Given the description of an element on the screen output the (x, y) to click on. 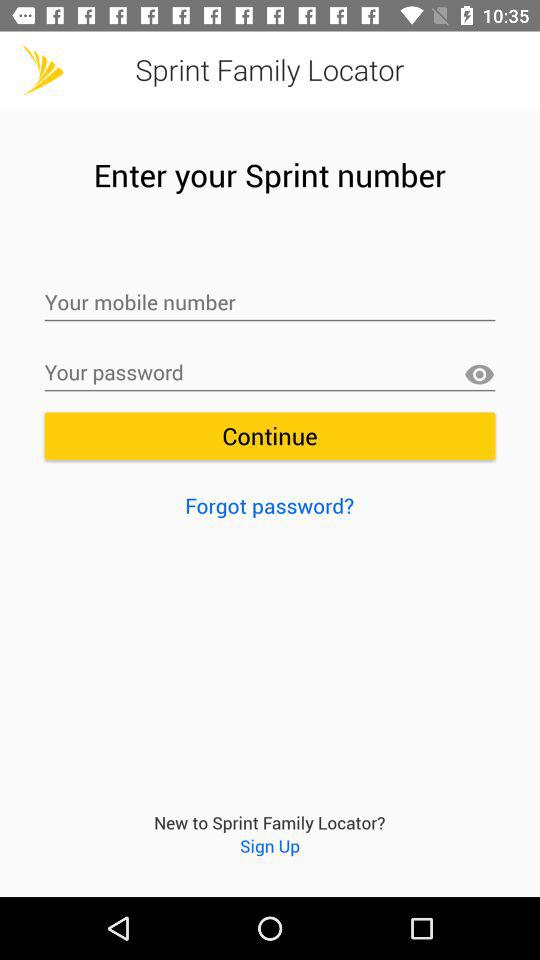
click forgot password? icon (269, 505)
